Given the description of an element on the screen output the (x, y) to click on. 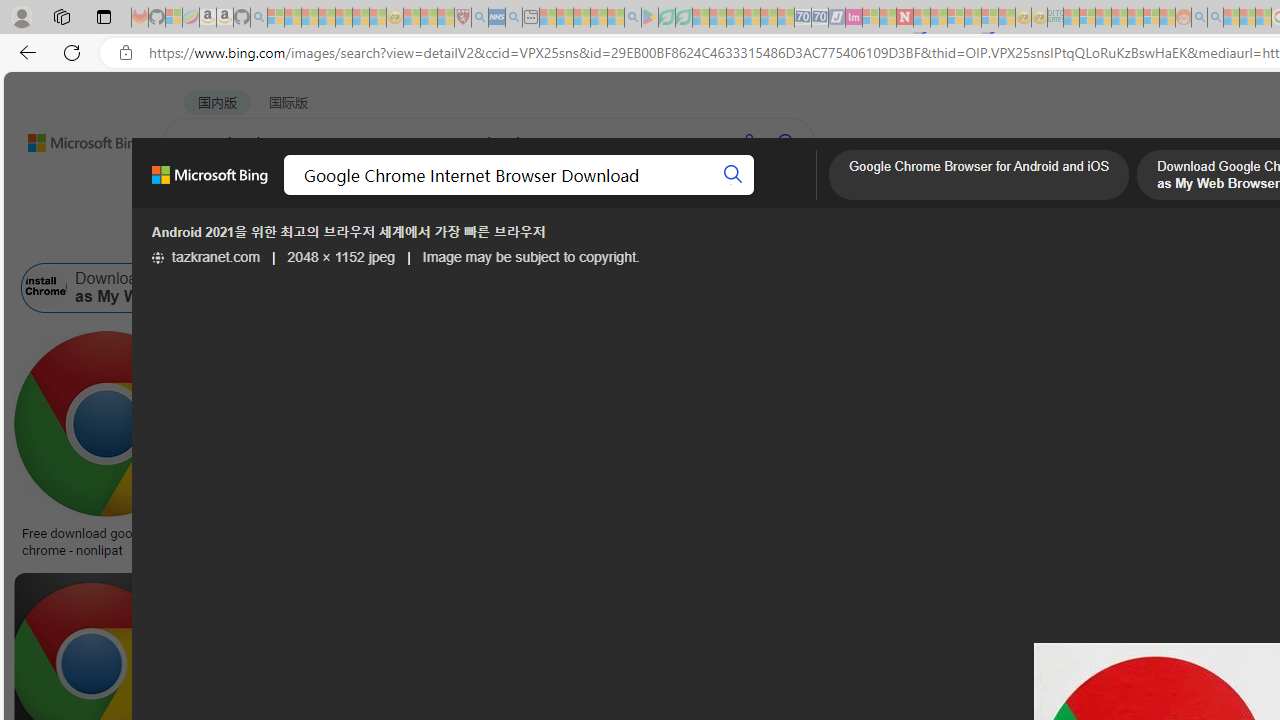
Google Chrome Search Browser (846, 287)
Expert Portfolios - Sleeping (1119, 17)
The Weather Channel - MSN - Sleeping (309, 17)
